Given the description of an element on the screen output the (x, y) to click on. 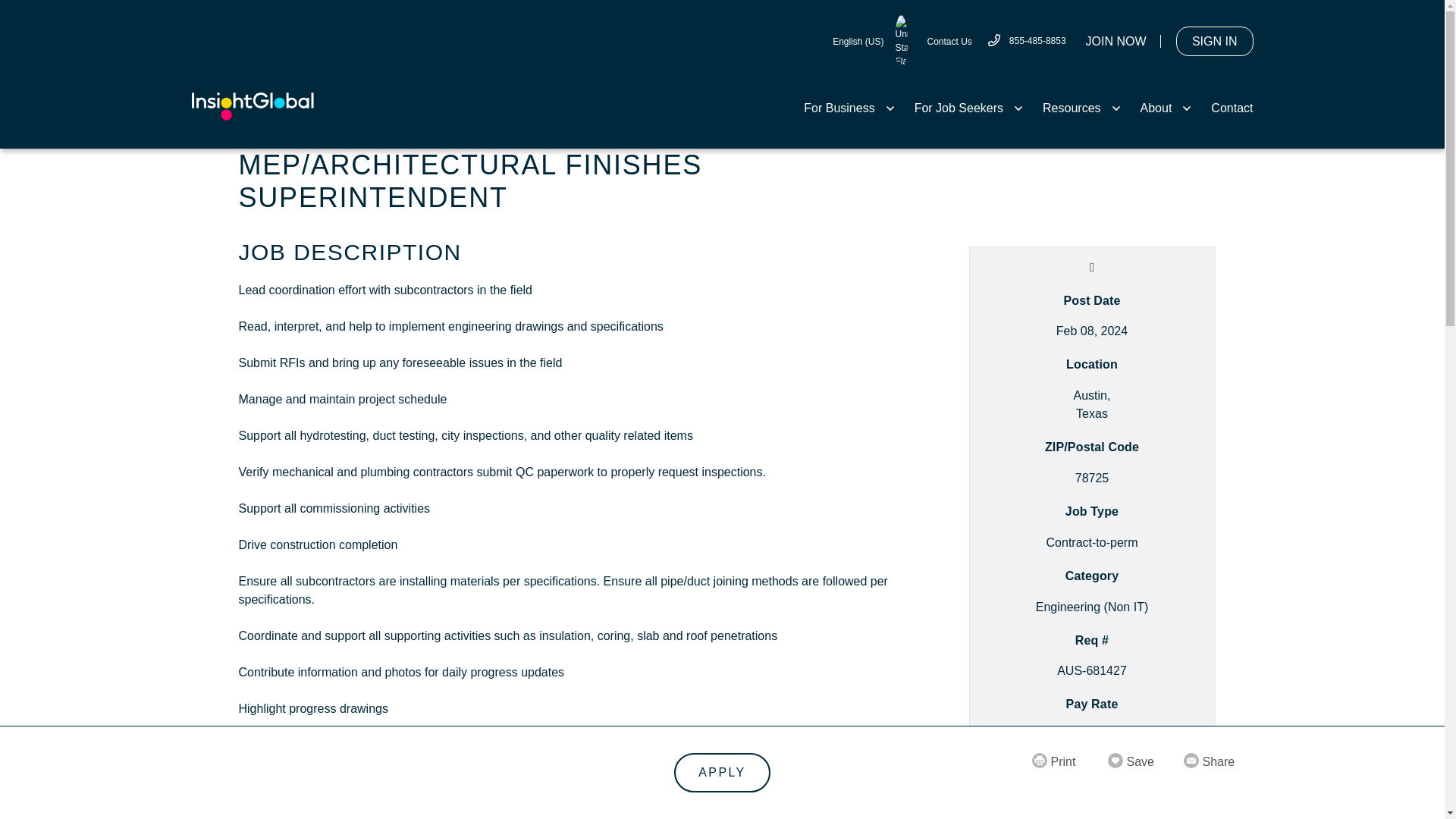
Contact Us (948, 41)
Log in to your account (1214, 41)
SIGN IN (1214, 41)
JOIN NOW (1116, 41)
Sign up as a new user (1116, 41)
For Business (849, 108)
855-485-8853 (1026, 40)
